Given the description of an element on the screen output the (x, y) to click on. 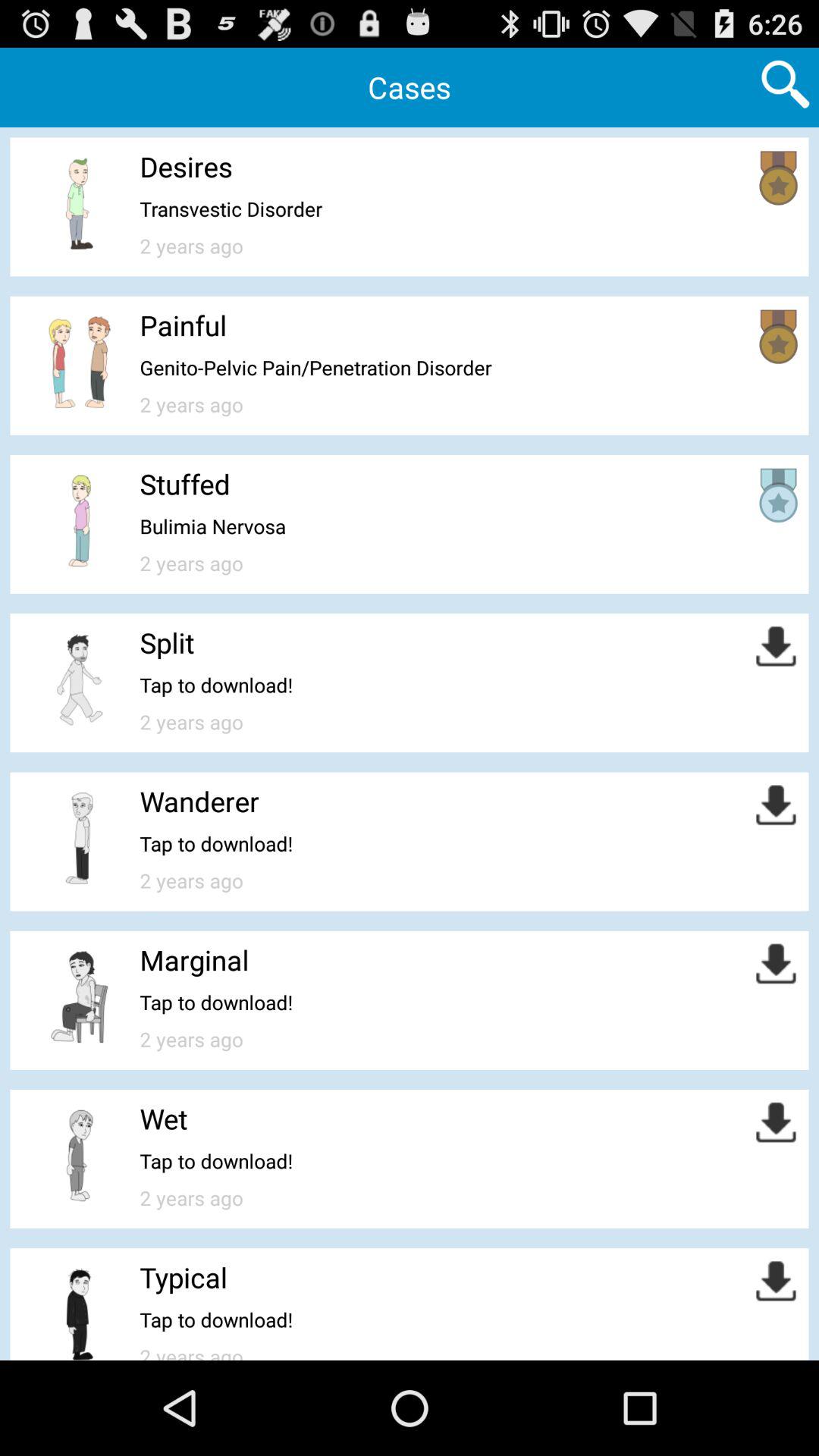
turn off painful item (182, 325)
